Given the description of an element on the screen output the (x, y) to click on. 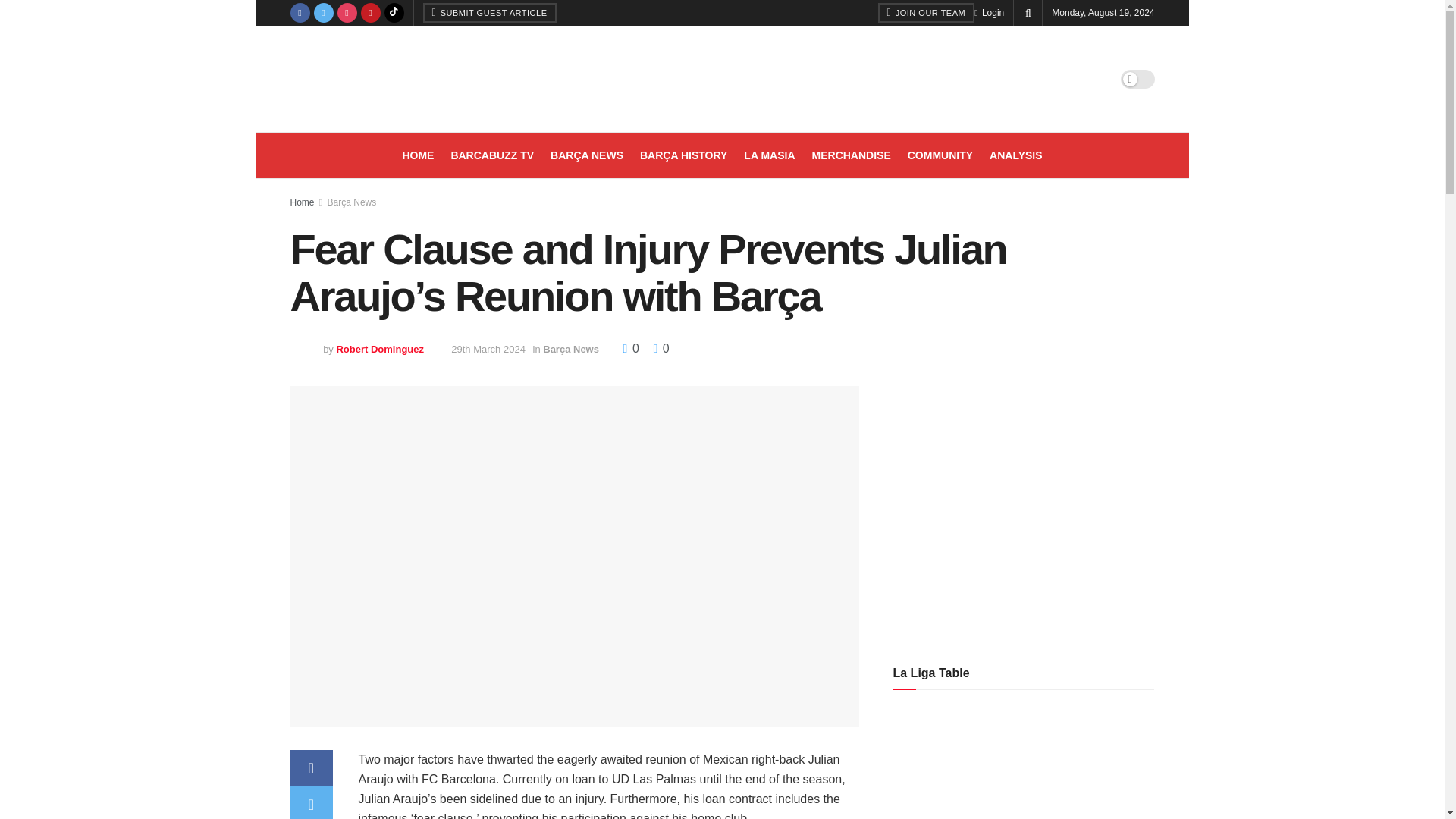
BARCABUZZ TV (491, 155)
ANALYSIS (1016, 155)
MERCHANDISE (851, 155)
COMMUNITY (939, 155)
HOME (417, 155)
JOIN OUR TEAM (926, 12)
Just sit and watch (491, 155)
Login (989, 12)
YouTube video player (1105, 504)
SUBMIT GUEST ARTICLE (489, 12)
